Given the description of an element on the screen output the (x, y) to click on. 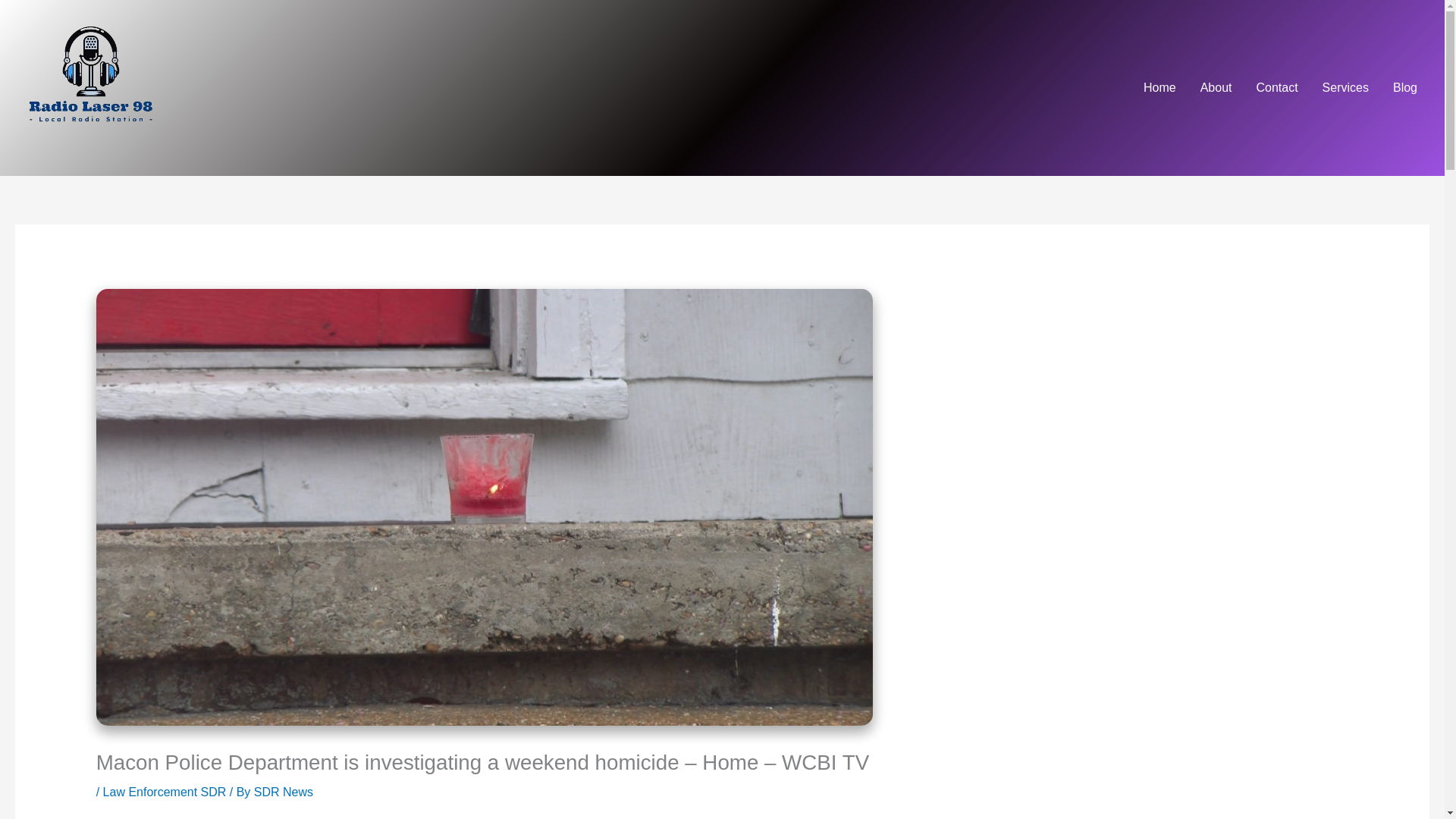
SDR News (283, 791)
About (1216, 87)
Contact (1275, 87)
Home (1159, 87)
Law Enforcement SDR (165, 791)
Services (1345, 87)
Blog (1404, 87)
View all posts by SDR News (283, 791)
